Given the description of an element on the screen output the (x, y) to click on. 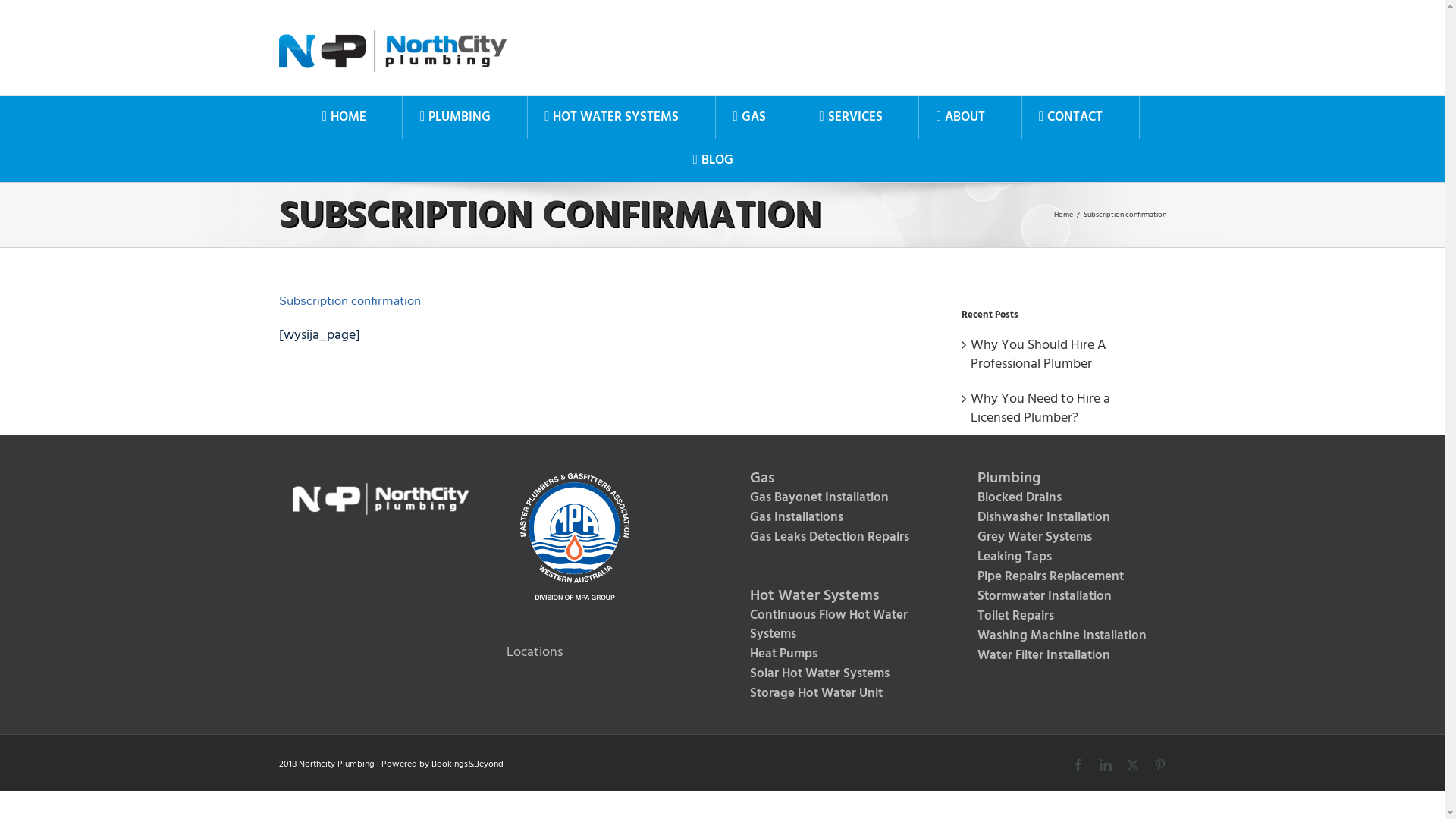
Water Filter Installation Element type: text (1063, 655)
Locations Element type: text (534, 651)
Dishwasher Installation Element type: text (1063, 517)
CONTACT Element type: text (1071, 116)
Gas Element type: text (835, 478)
Plumbing Element type: text (1063, 478)
Bookings&Beyond Element type: text (466, 763)
Gas Bayonet Installation Element type: text (835, 498)
BLOG Element type: text (712, 160)
Hot Water Systems Element type: text (835, 595)
SERVICES Element type: text (850, 116)
Continuous Flow Hot Water Systems Element type: text (835, 624)
Twitter Element type: text (1132, 765)
HOT WATER SYSTEMS Element type: text (611, 116)
Washing Machine Installation Element type: text (1063, 636)
Grey Water Systems Element type: text (1063, 537)
Facebook Element type: text (1078, 765)
Why You Should Hire A Professional Plumber Element type: text (1038, 353)
Solar Hot Water Systems Element type: text (835, 674)
Stormwater Installation Element type: text (1063, 596)
Leaking Taps Element type: text (1063, 557)
Storage Hot Water Unit Element type: text (835, 693)
Pinterest Element type: text (1160, 765)
Heat Pumps Element type: text (835, 654)
Gas Installations Element type: text (835, 517)
ABOUT Element type: text (960, 116)
LinkedIn Element type: text (1105, 765)
Why You Need to Hire a Licensed Plumber? Element type: text (1040, 407)
HOME Element type: text (343, 116)
Blocked Drains Element type: text (1063, 498)
Pipe Repairs Replacement Element type: text (1063, 576)
PLUMBING Element type: text (454, 116)
GAS Element type: text (748, 116)
Gas Leaks Detection Repairs Element type: text (835, 537)
Toilet Repairs Element type: text (1063, 616)
Home Element type: text (1063, 214)
